Given the description of an element on the screen output the (x, y) to click on. 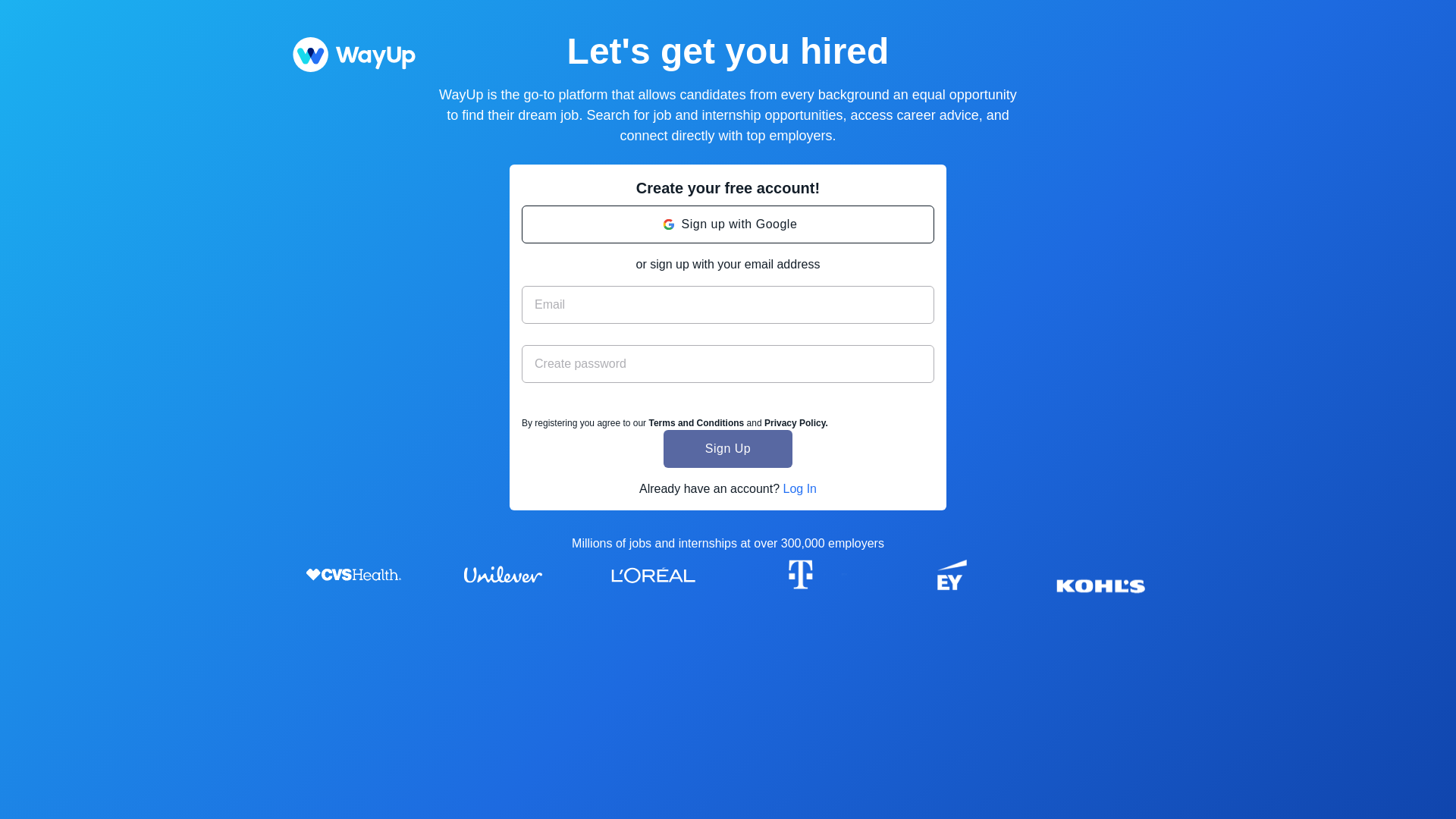
Sign up with Google (727, 224)
Log In (799, 488)
Terms and Conditions (695, 422)
Sign up with Google (727, 224)
Sign Up (728, 448)
Privacy Policy (794, 422)
Sign Up (728, 448)
